Given the description of an element on the screen output the (x, y) to click on. 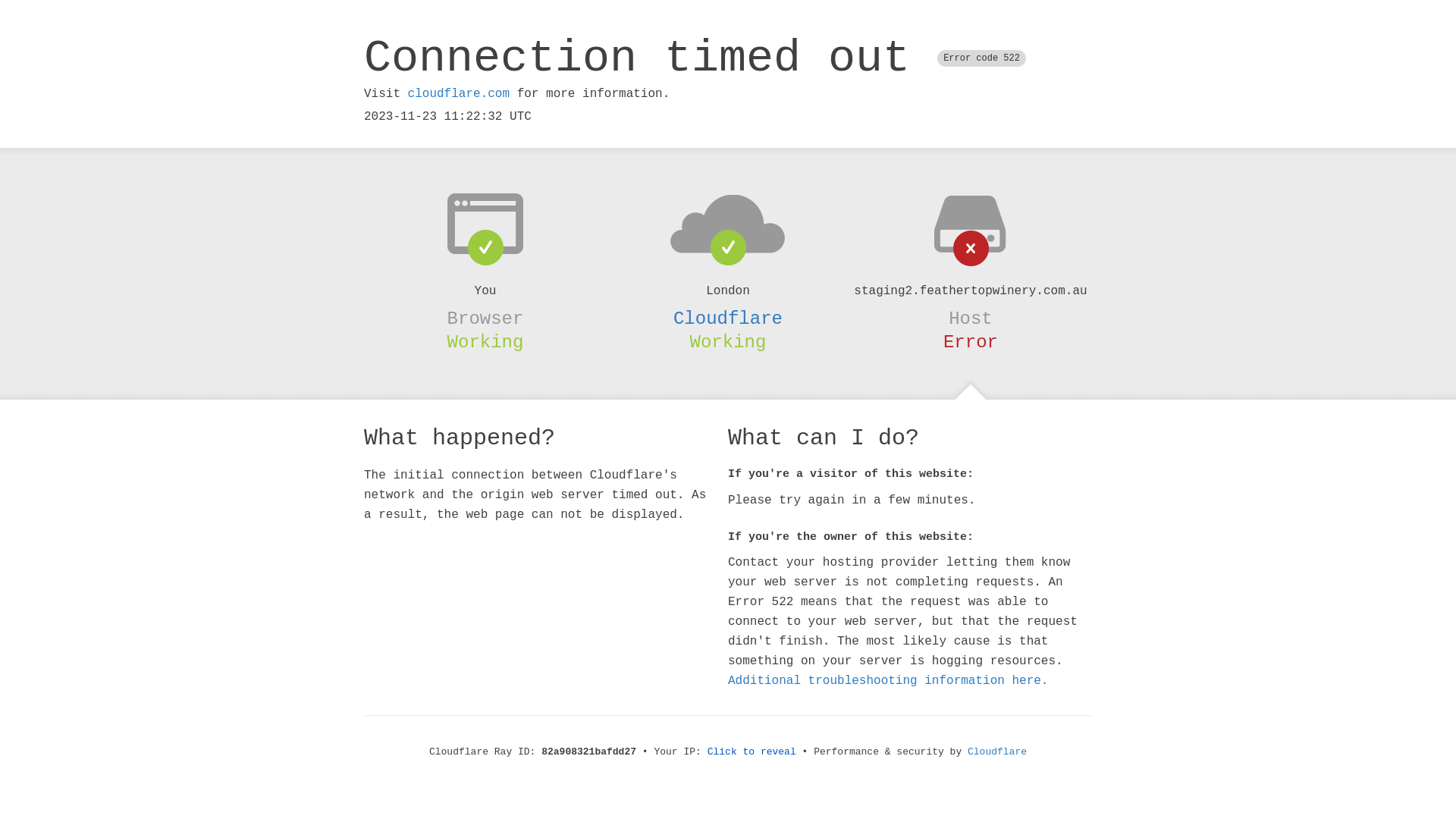
Cloudflare Element type: text (727, 318)
Additional troubleshooting information here. Element type: text (888, 680)
Click to reveal Element type: text (751, 751)
cloudflare.com Element type: text (458, 93)
Cloudflare Element type: text (996, 751)
